Given the description of an element on the screen output the (x, y) to click on. 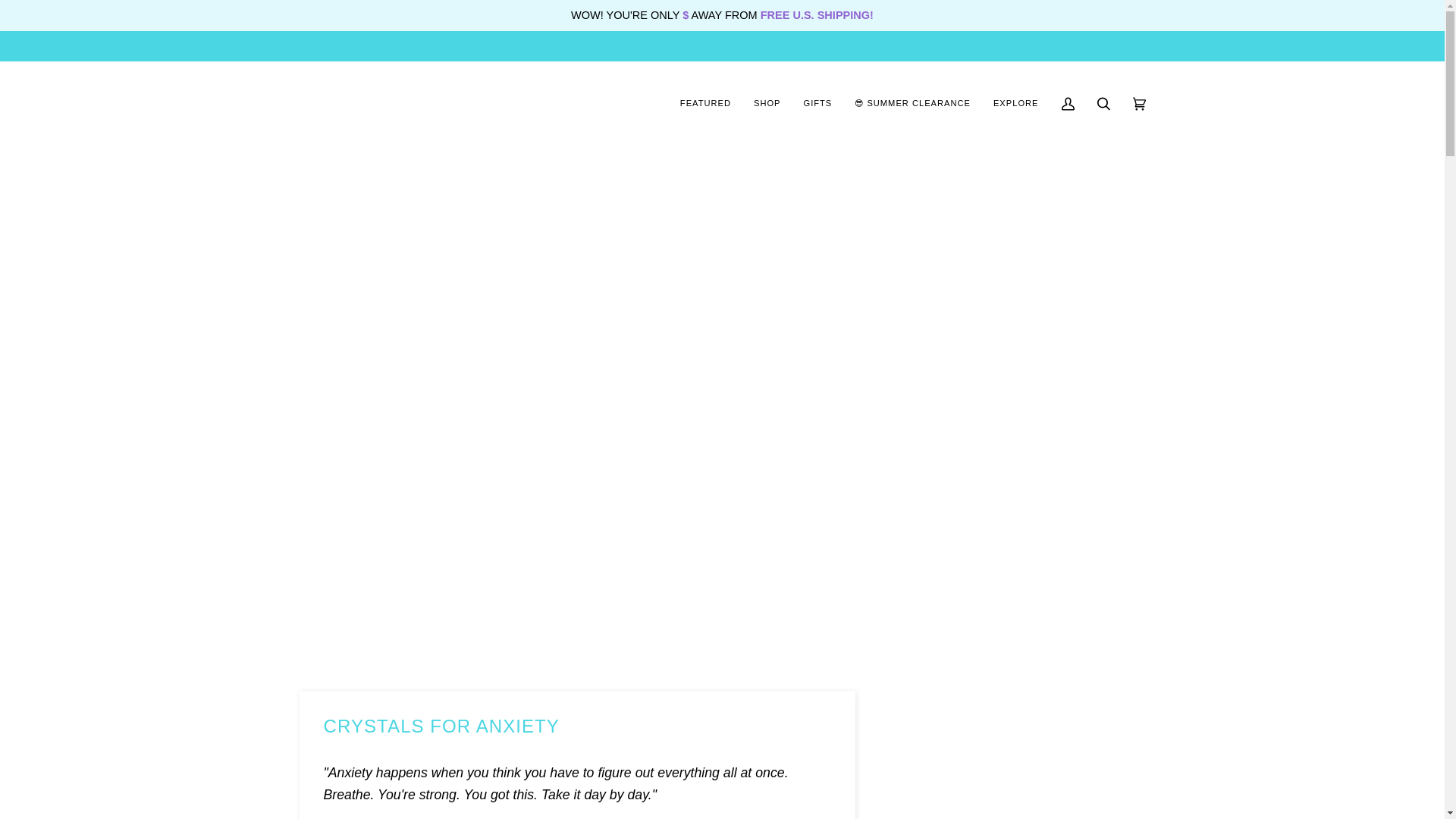
SHOP (767, 103)
FEATURED (705, 103)
GIFTS (818, 103)
